Given the description of an element on the screen output the (x, y) to click on. 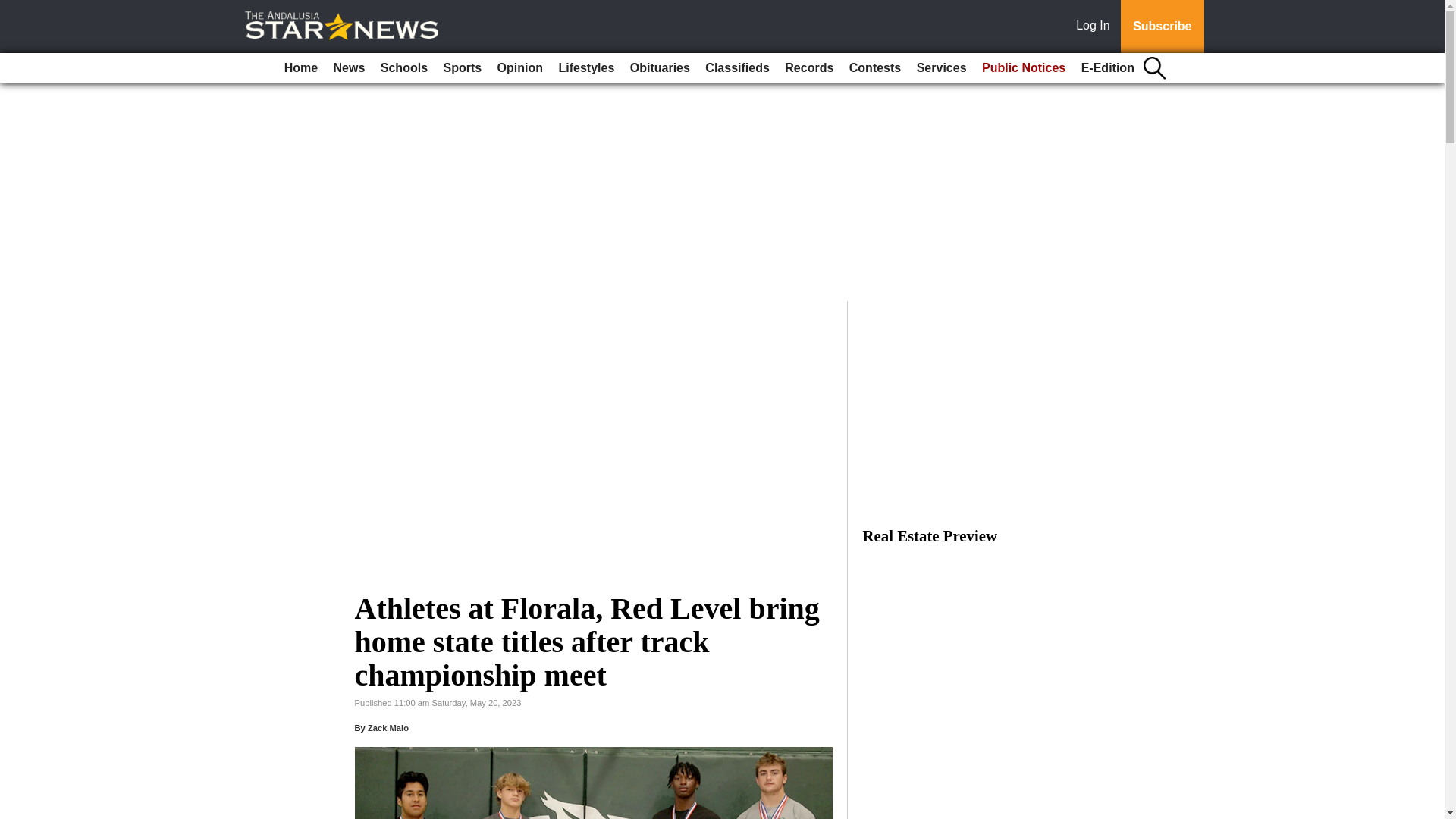
Records (809, 68)
Sports (461, 68)
Subscribe (1162, 26)
Lifestyles (585, 68)
News (349, 68)
Services (941, 68)
Contests (875, 68)
Go (13, 9)
Home (300, 68)
Public Notices (1023, 68)
Schools (403, 68)
E-Edition (1107, 68)
Zack Maio (388, 727)
Opinion (520, 68)
Log In (1095, 26)
